Given the description of an element on the screen output the (x, y) to click on. 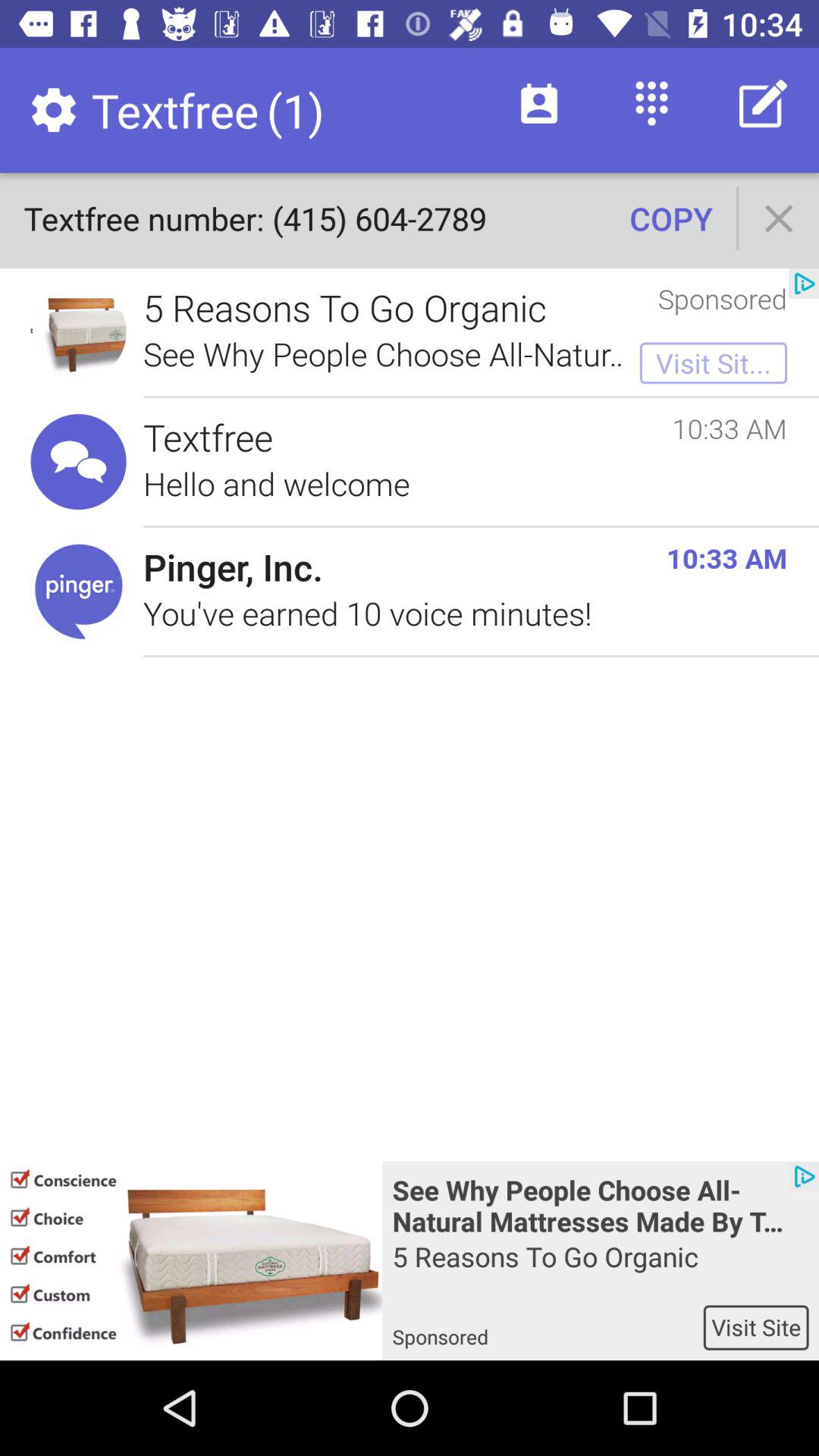
turn off the item next to the see why people icon (191, 1260)
